Given the description of an element on the screen output the (x, y) to click on. 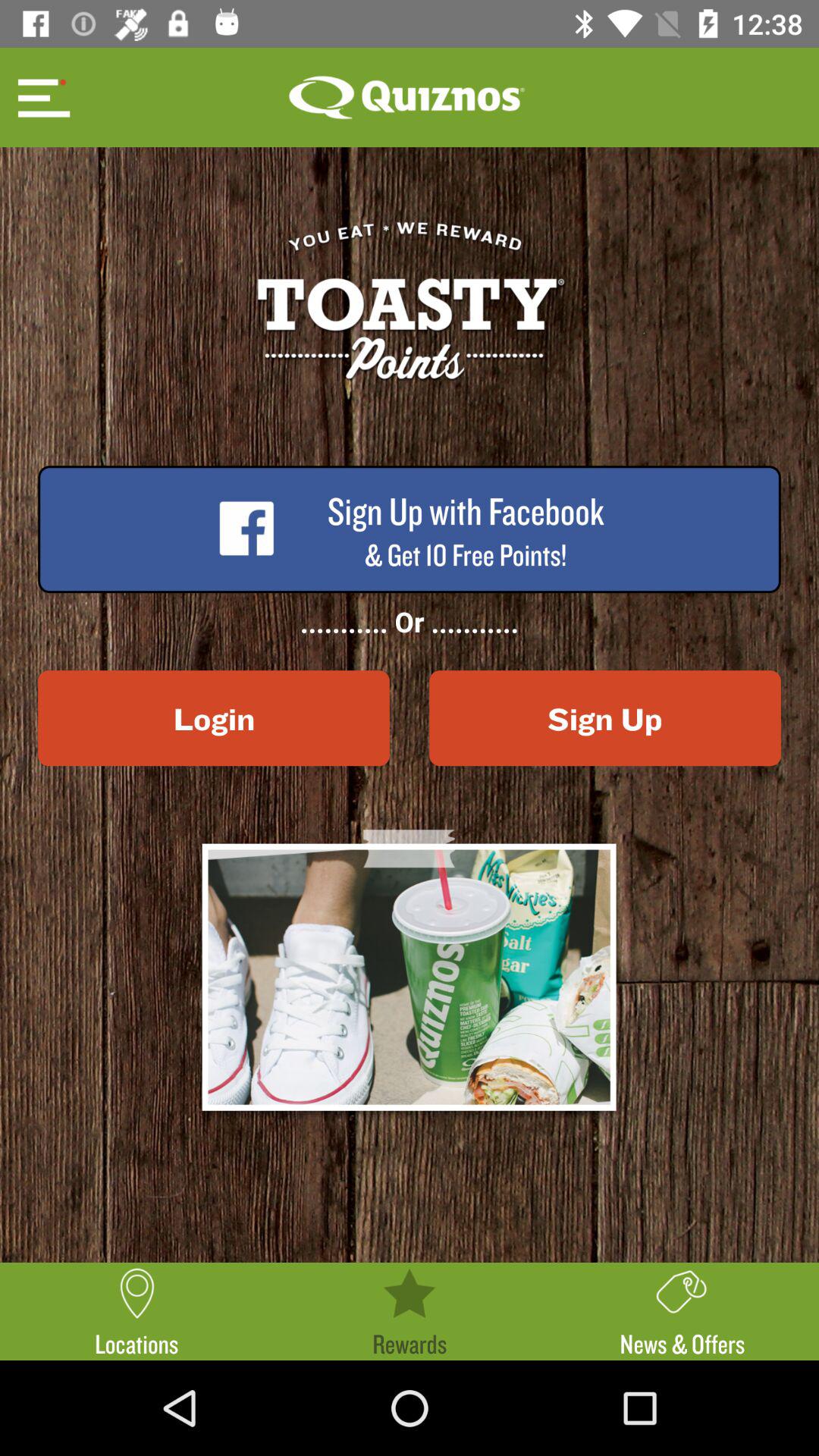
press login item (213, 718)
